Given the description of an element on the screen output the (x, y) to click on. 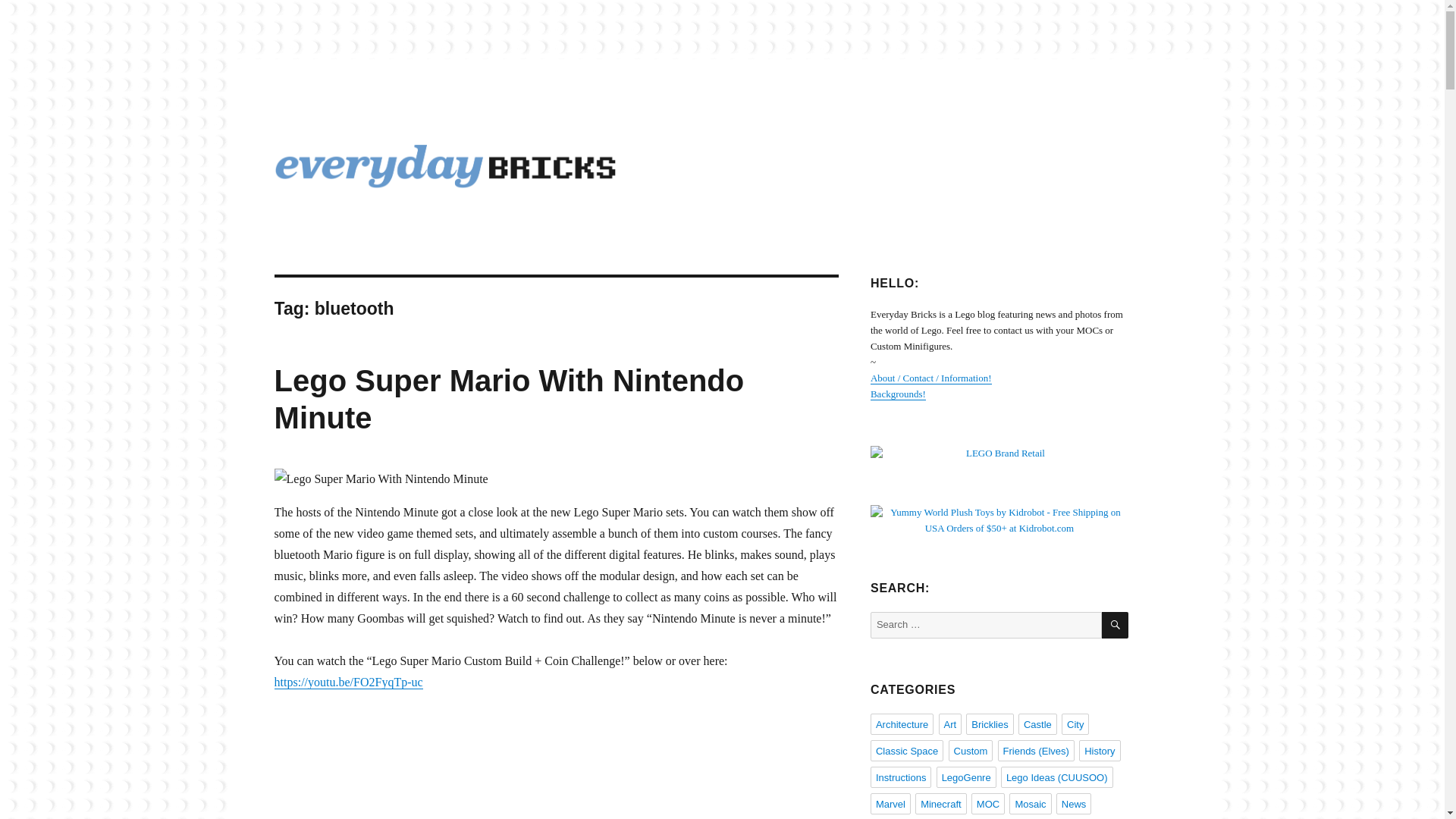
EverydayBricks (354, 213)
Lego Super Mario With Nintendo Minute (509, 398)
